Given the description of an element on the screen output the (x, y) to click on. 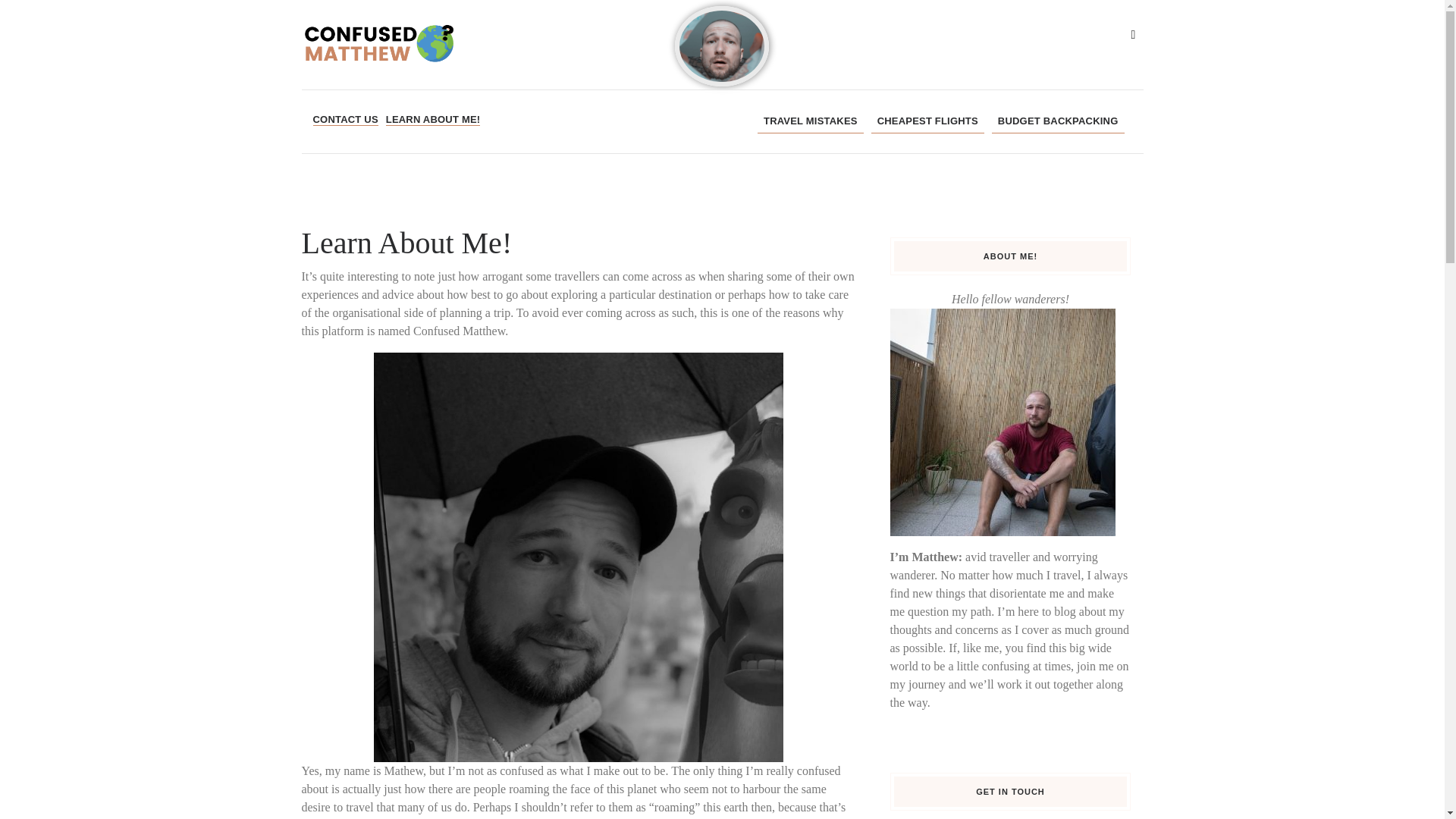
LEARN ABOUT ME! (432, 119)
Budget Backpacking (1057, 121)
CHEAPEST FLIGHTS (927, 121)
Travel Mistakes (810, 121)
TRAVEL MISTAKES (810, 121)
BUDGET BACKPACKING (1057, 121)
Cheapest Flights (927, 121)
CONTACT US (345, 119)
